Given the description of an element on the screen output the (x, y) to click on. 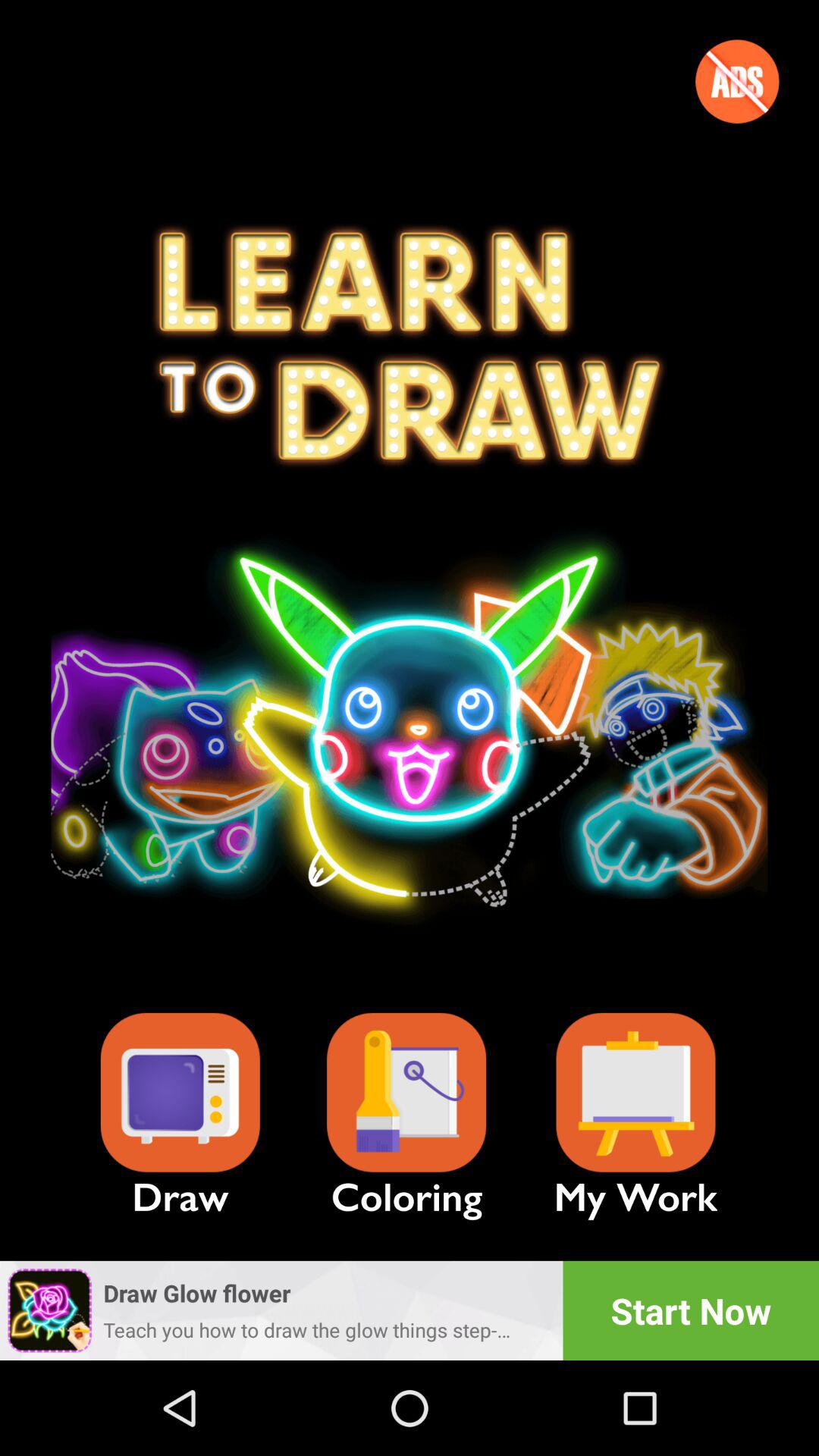
turn on the item next to my work (406, 1092)
